Given the description of an element on the screen output the (x, y) to click on. 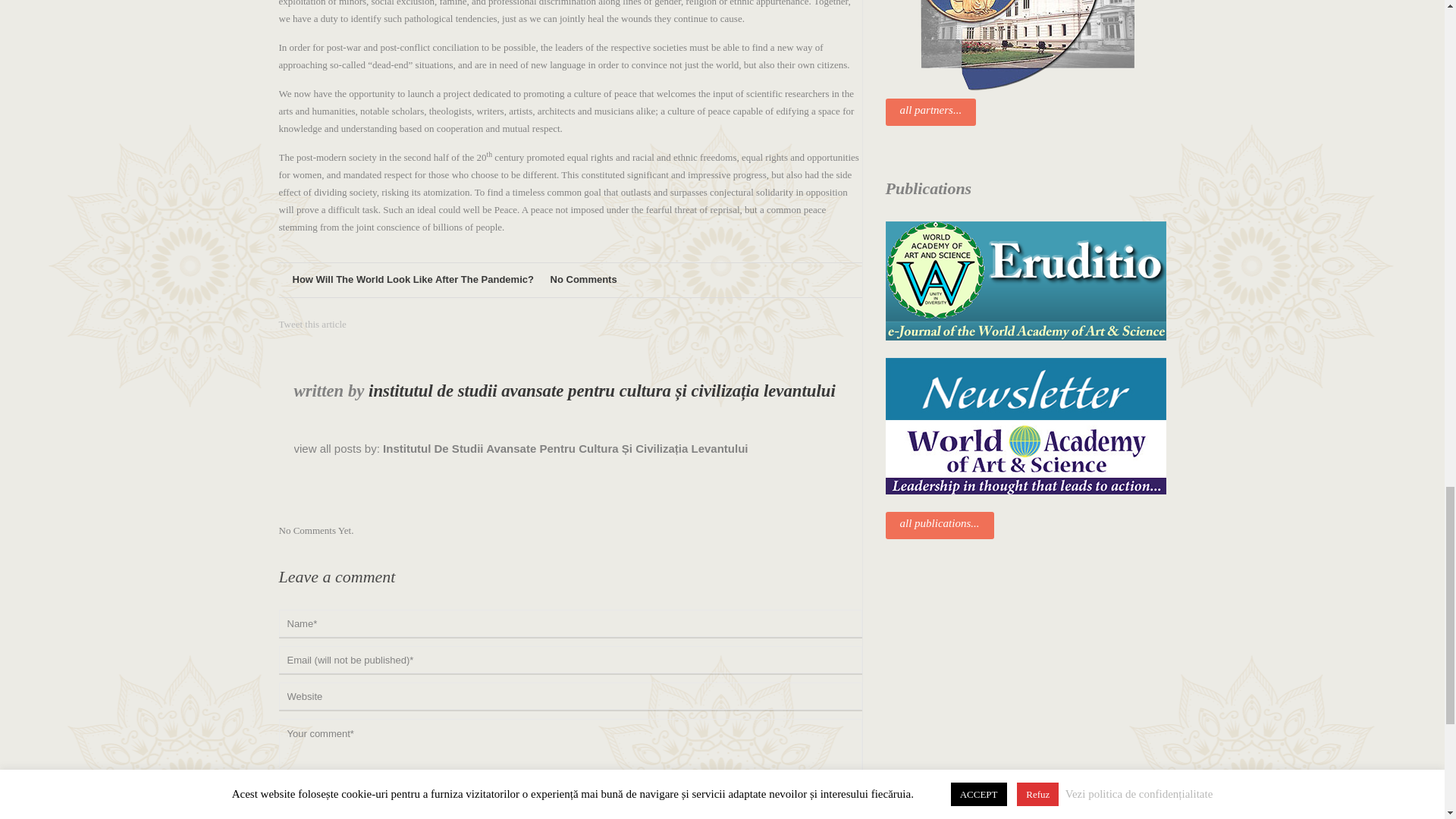
all publications... (939, 524)
Website (570, 696)
all partners... (930, 112)
